Given the description of an element on the screen output the (x, y) to click on. 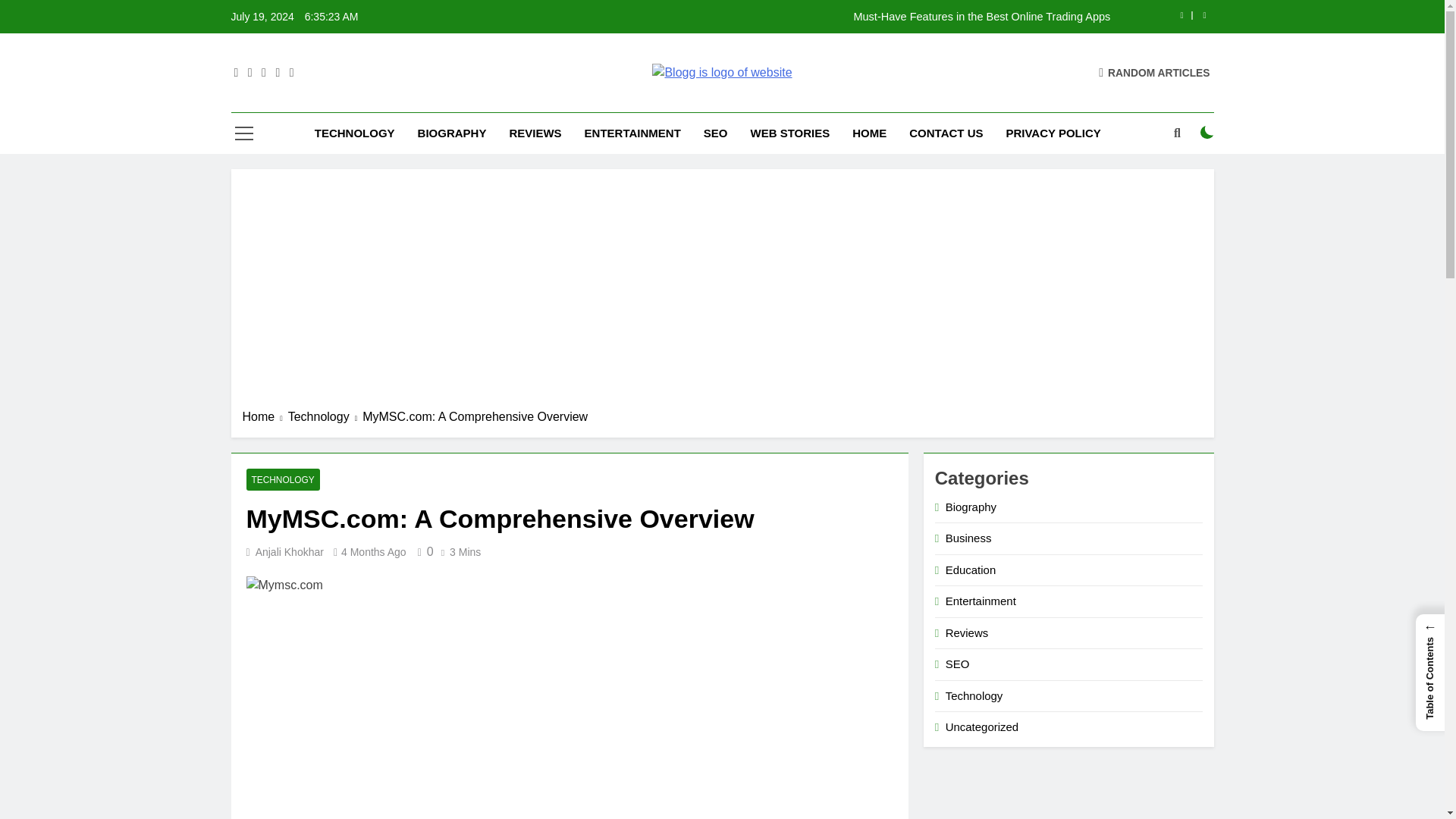
Blogg (522, 98)
SEO (716, 133)
PRIVACY POLICY (1053, 133)
REVIEWS (534, 133)
CONTACT US (946, 133)
WEB STORIES (789, 133)
on (1206, 132)
RANDOM ARTICLES (1154, 72)
HOME (869, 133)
BIOGRAPHY (451, 133)
TECHNOLOGY (354, 133)
ENTERTAINMENT (633, 133)
Must-Have Features in the Best Online Trading Apps (817, 16)
Must-Have Features in the Best Online Trading Apps (817, 16)
